Given the description of an element on the screen output the (x, y) to click on. 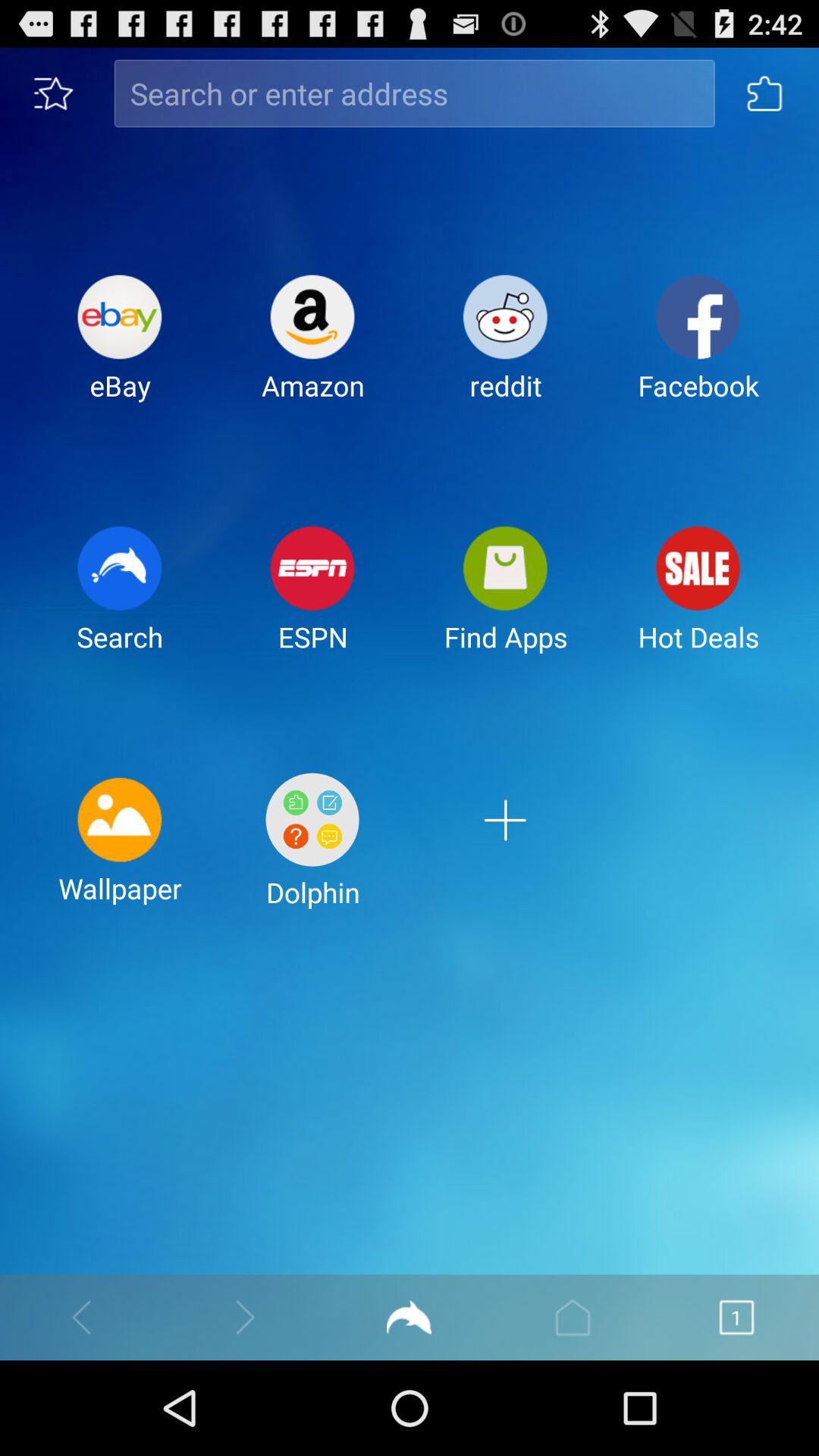
choose the search (119, 601)
